Given the description of an element on the screen output the (x, y) to click on. 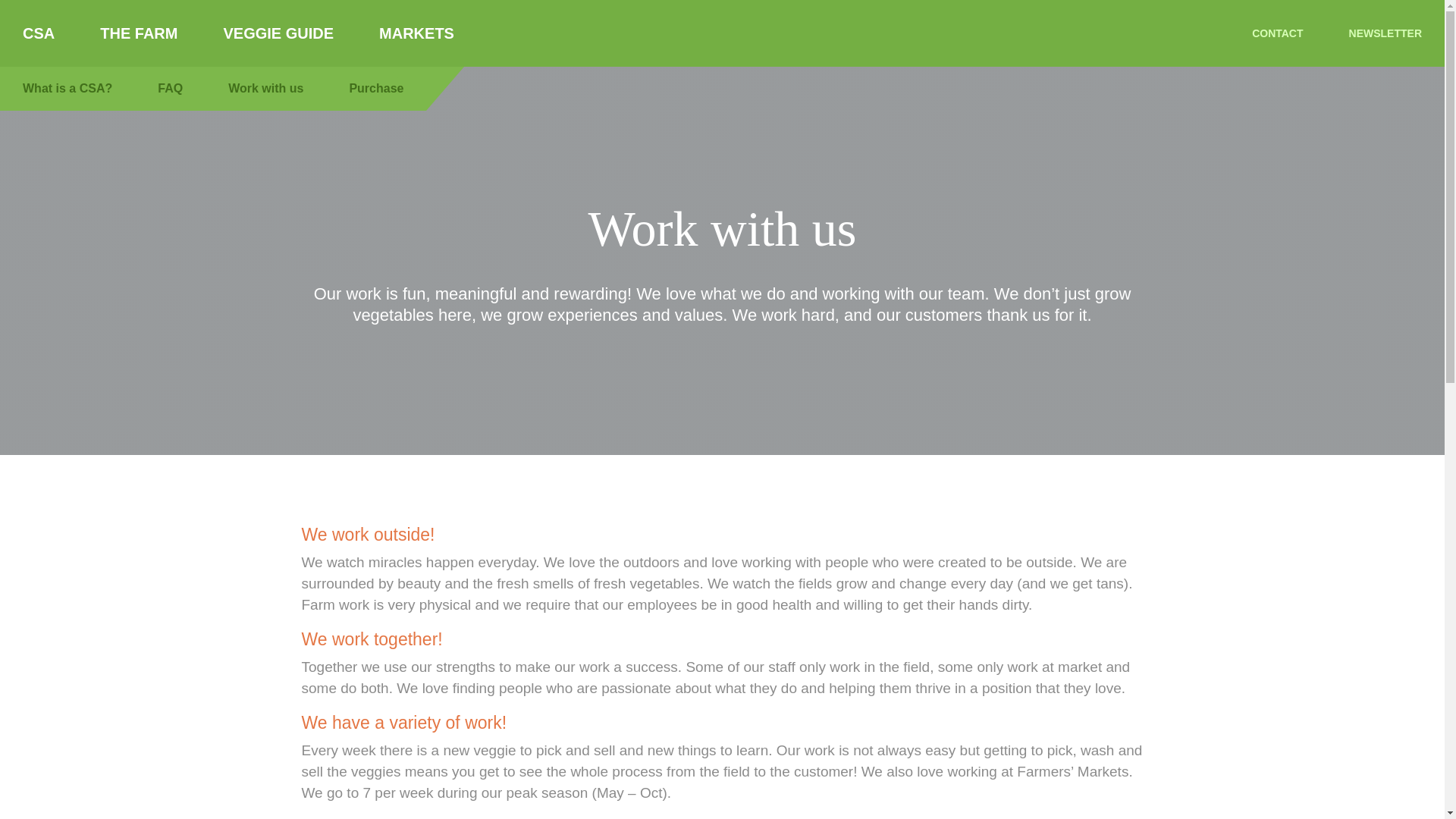
Work with us (265, 88)
FAQ (170, 88)
CONTACT (1276, 33)
MARKETS (416, 33)
VEGGIE GUIDE (278, 33)
What is a CSA? (67, 88)
CSA (38, 33)
Purchase (376, 88)
THE FARM (138, 33)
